Given the description of an element on the screen output the (x, y) to click on. 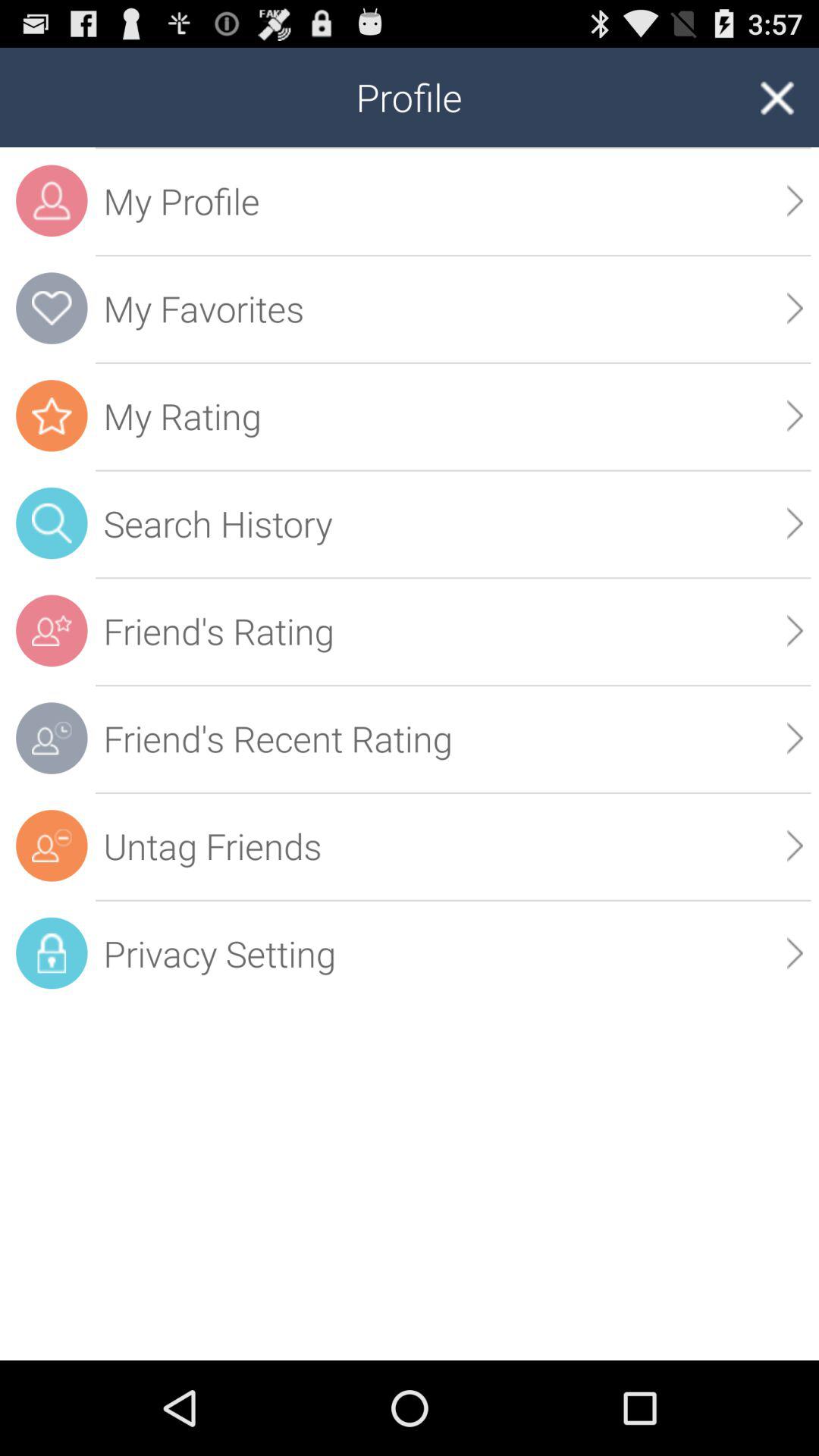
jump to the my rating item (453, 415)
